Given the description of an element on the screen output the (x, y) to click on. 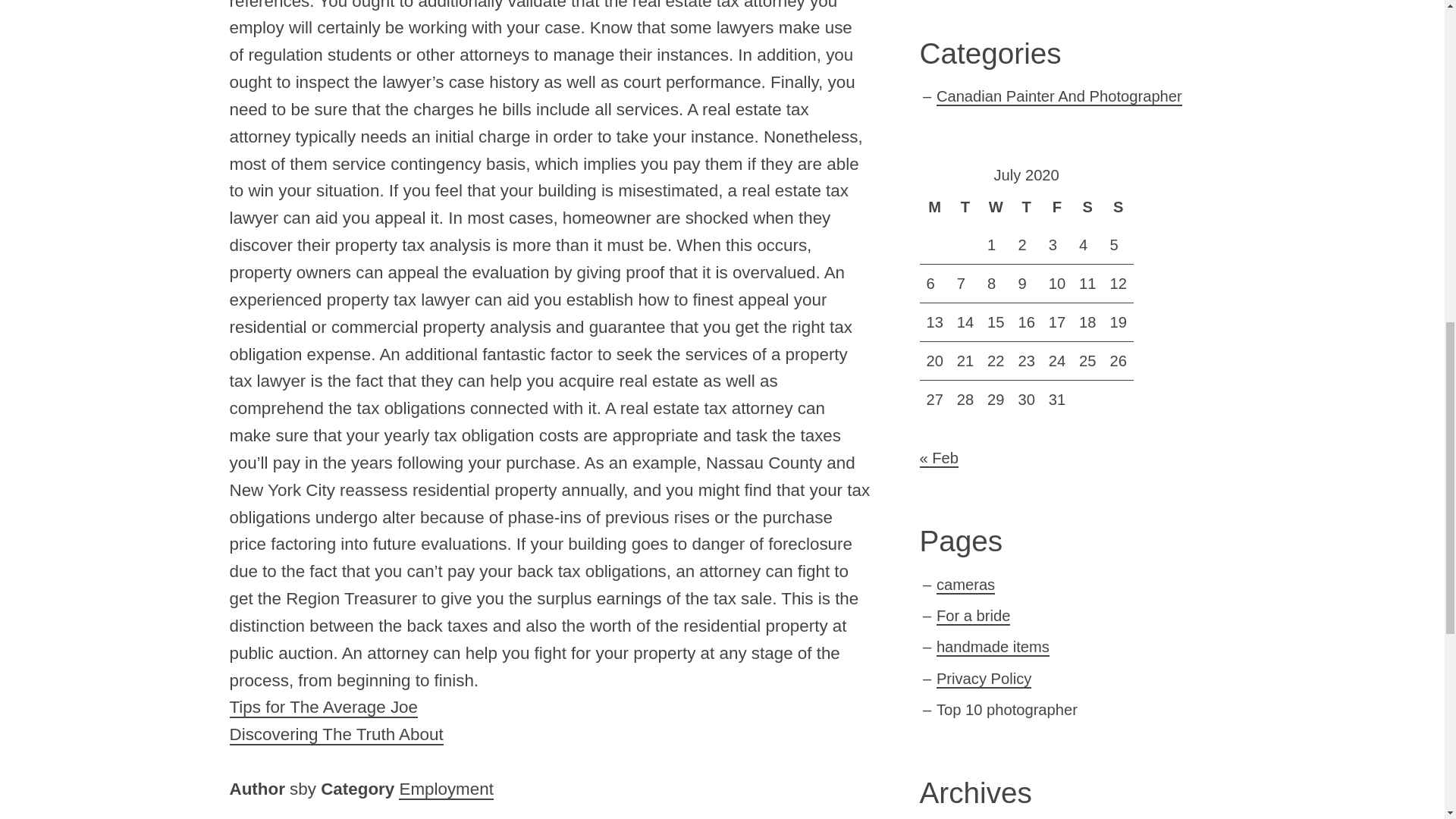
Employment (445, 789)
Privacy Policy (983, 679)
cameras (965, 585)
Discovering The Truth About (335, 734)
Top 10 photographer (1006, 709)
Tips for The Average Joe (322, 707)
For a bride (973, 616)
Canadian Painter And Photographer (1059, 96)
handmade items (992, 647)
